Given the description of an element on the screen output the (x, y) to click on. 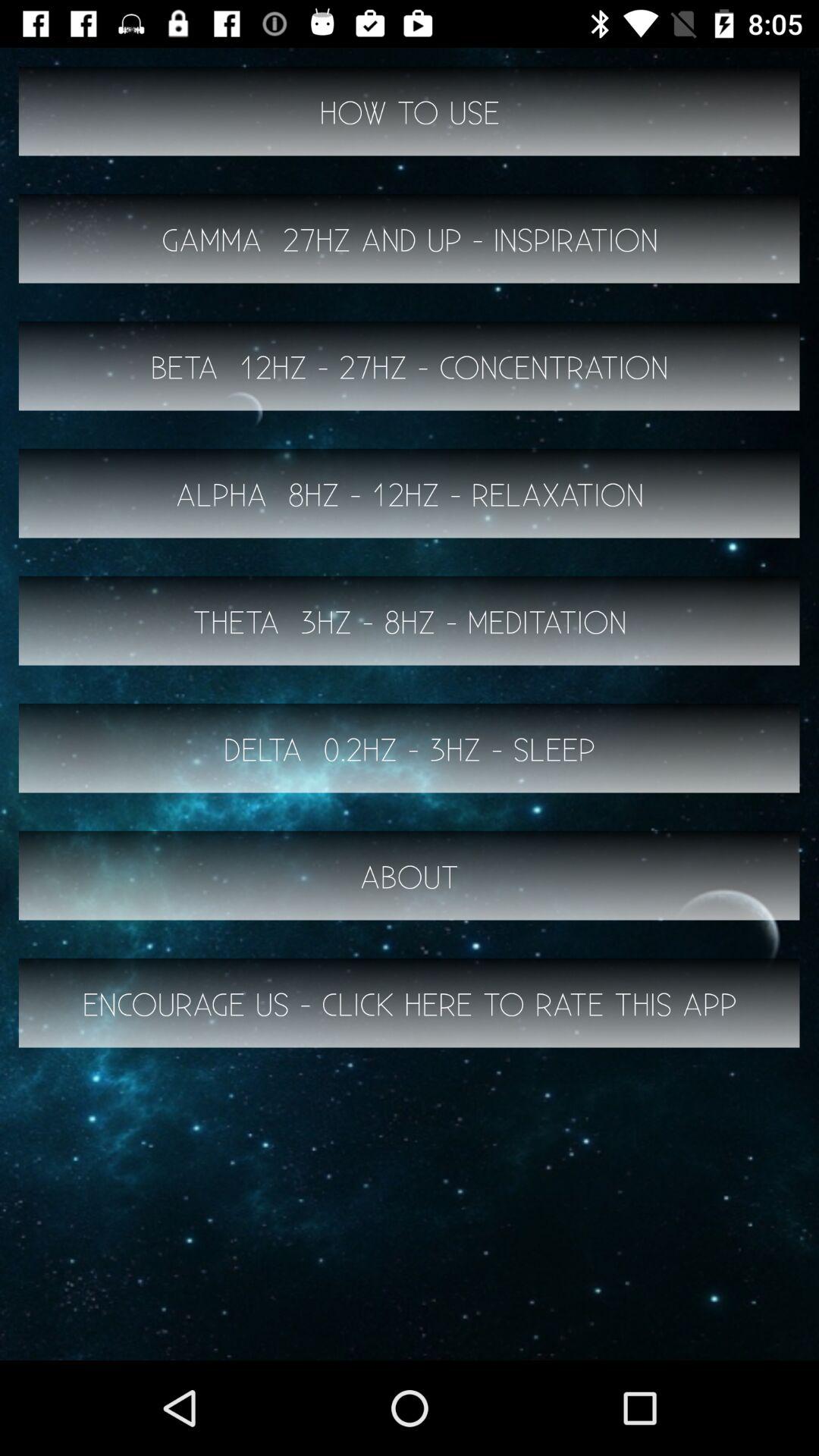
turn on button below beta 12hz 27hz item (409, 493)
